Given the description of an element on the screen output the (x, y) to click on. 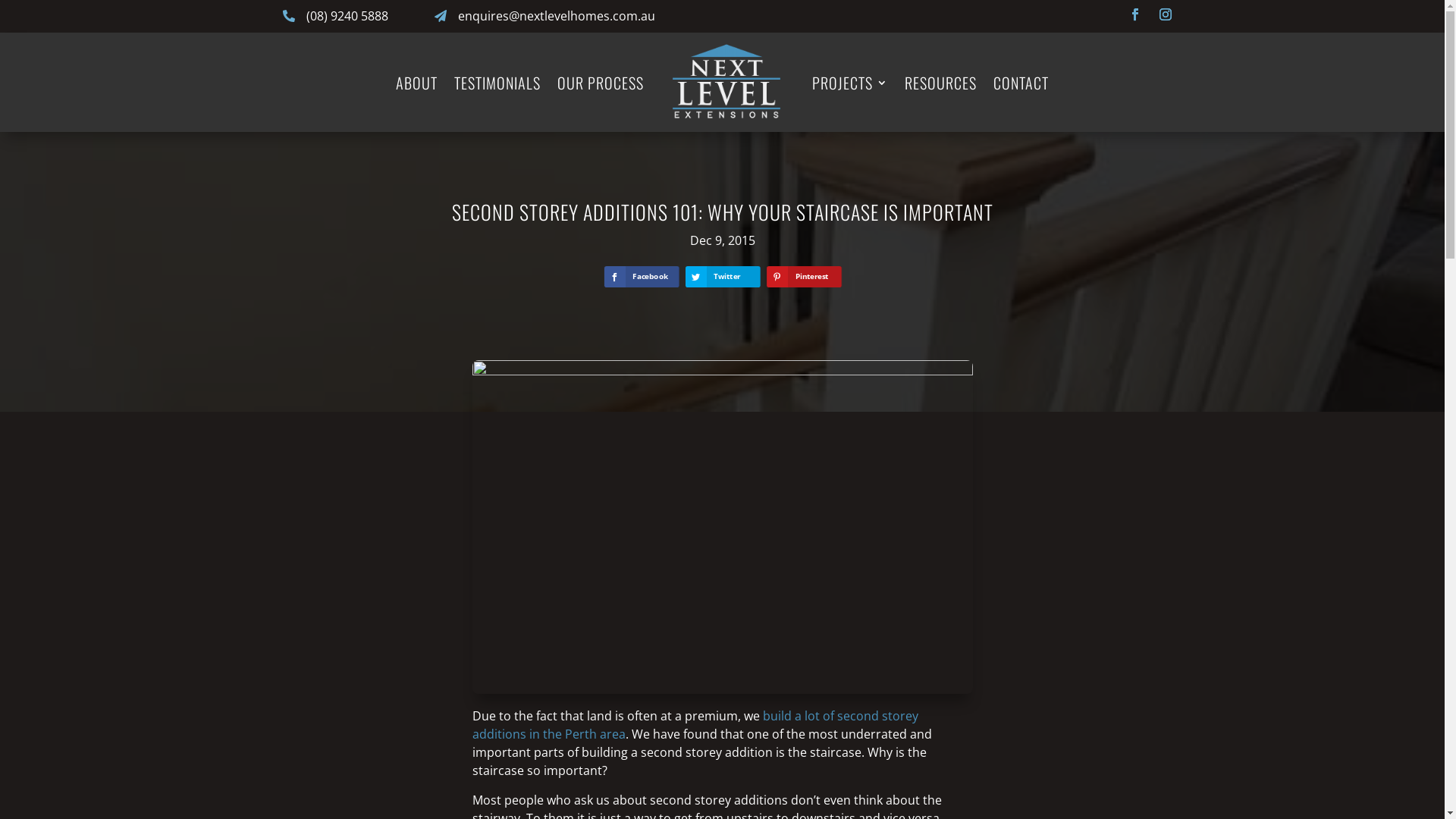
Instagram Element type: text (1164, 14)
Skip to content Element type: text (0, 0)
CONTACT Element type: text (1020, 81)
Facebook Element type: text (656, 281)
PROJECTS Element type: text (850, 81)
Facebook Element type: text (1134, 14)
build a lot of second storey additions in the Perth area Element type: text (694, 724)
Pinterest Element type: text (818, 281)
RESOURCES Element type: text (940, 81)
ABOUT Element type: text (416, 81)
TESTIMONIALS Element type: text (497, 81)
second-storey-staircase Element type: hover (721, 526)
OUR PROCESS Element type: text (600, 81)
Twitter Element type: text (737, 281)
